Given the description of an element on the screen output the (x, y) to click on. 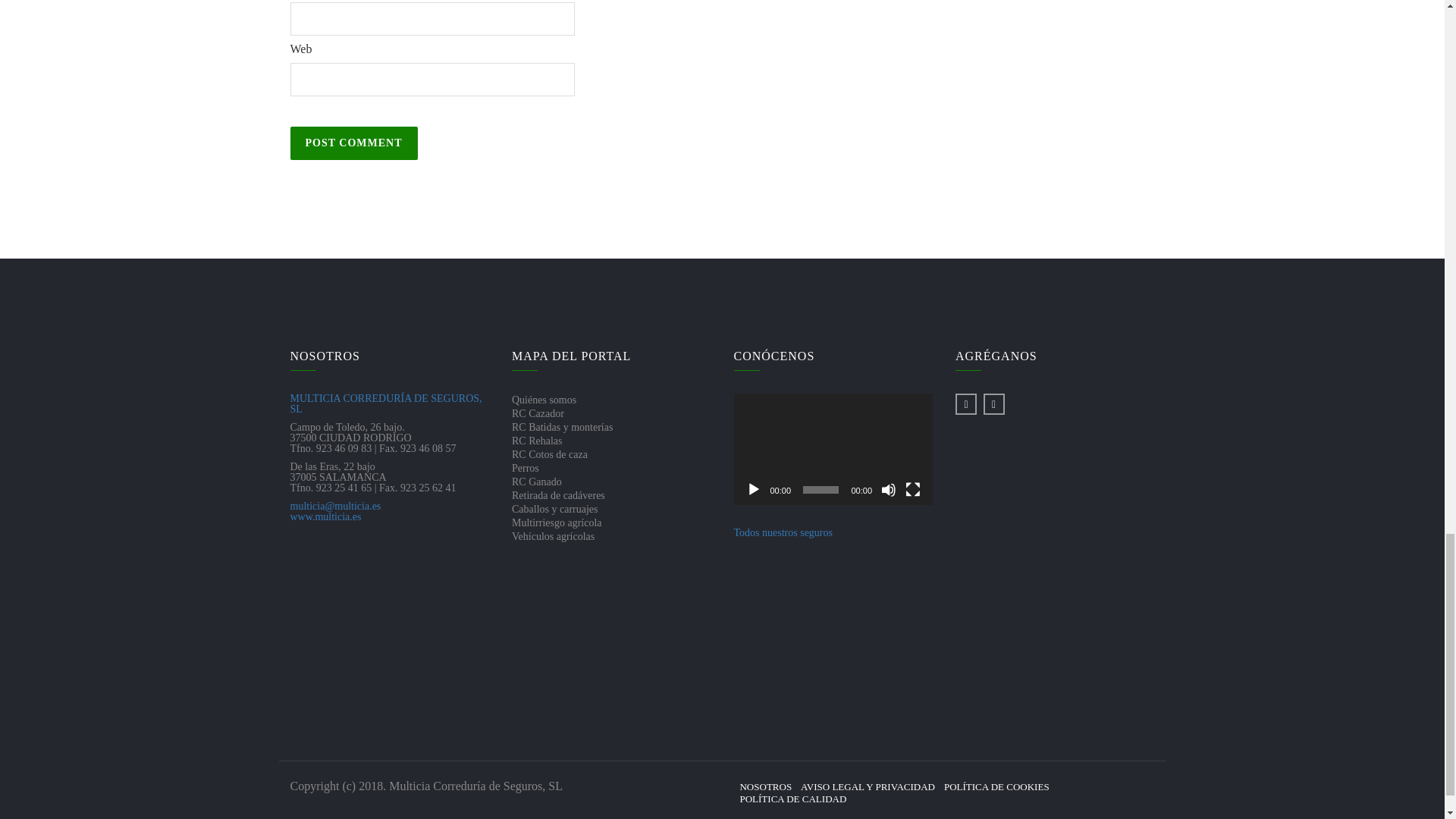
Post Comment (352, 142)
Post Comment (352, 142)
Silenciar (888, 489)
Pantalla completa (912, 489)
Reproducir (753, 489)
